Given the description of an element on the screen output the (x, y) to click on. 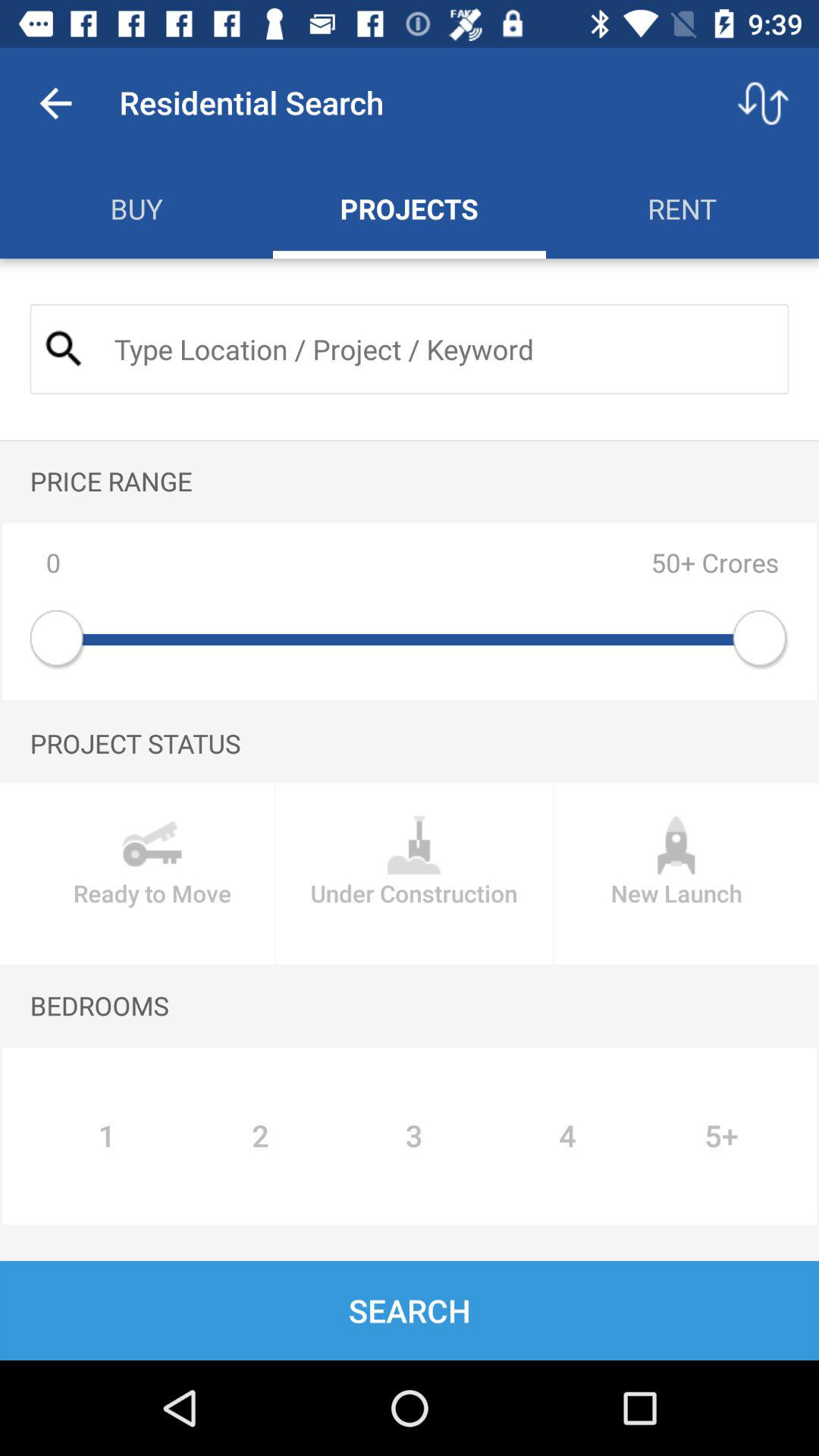
launch the icon to the right of 3 icon (567, 1135)
